Given the description of an element on the screen output the (x, y) to click on. 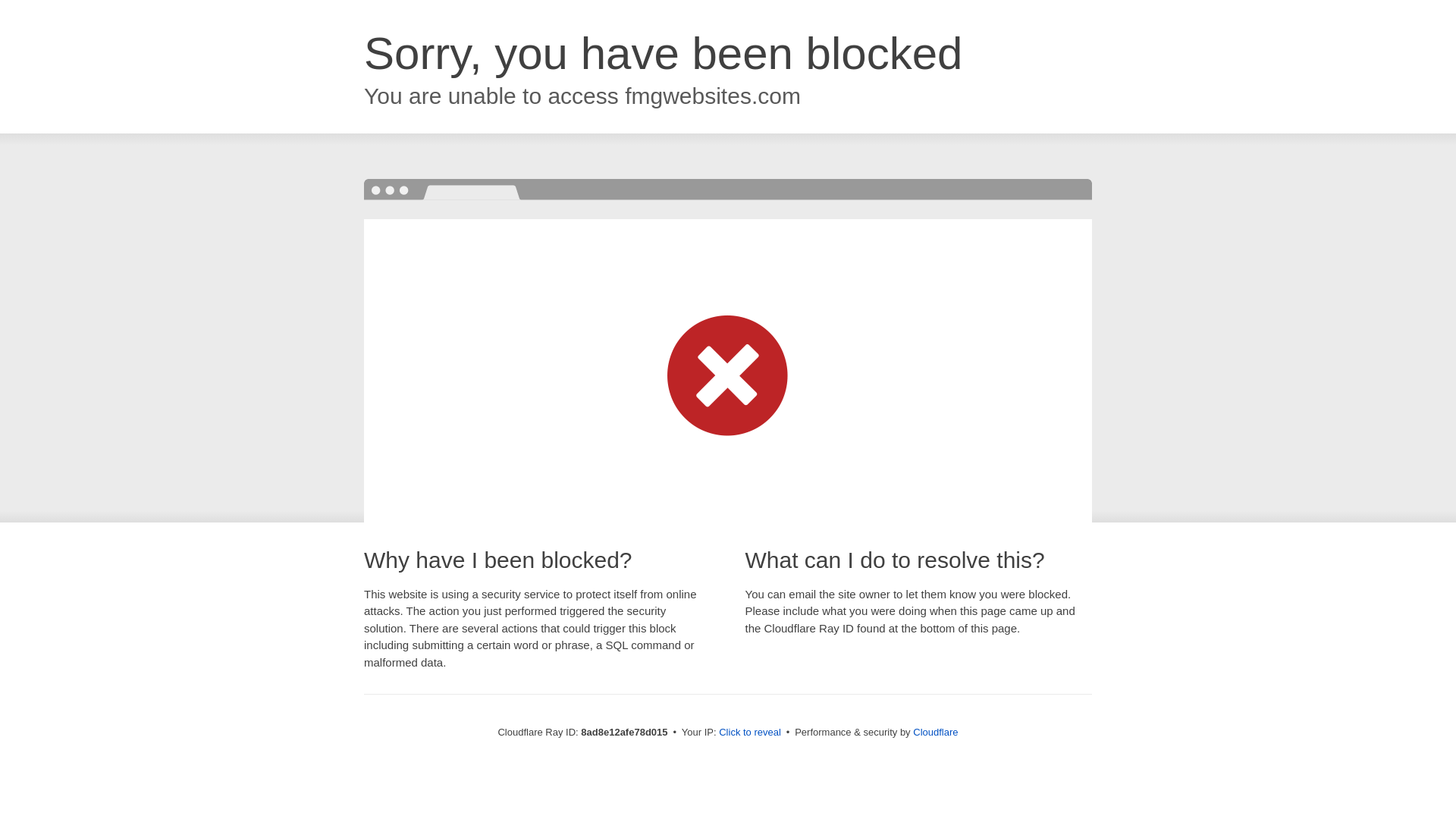
Cloudflare (935, 731)
Click to reveal (749, 732)
